Given the description of an element on the screen output the (x, y) to click on. 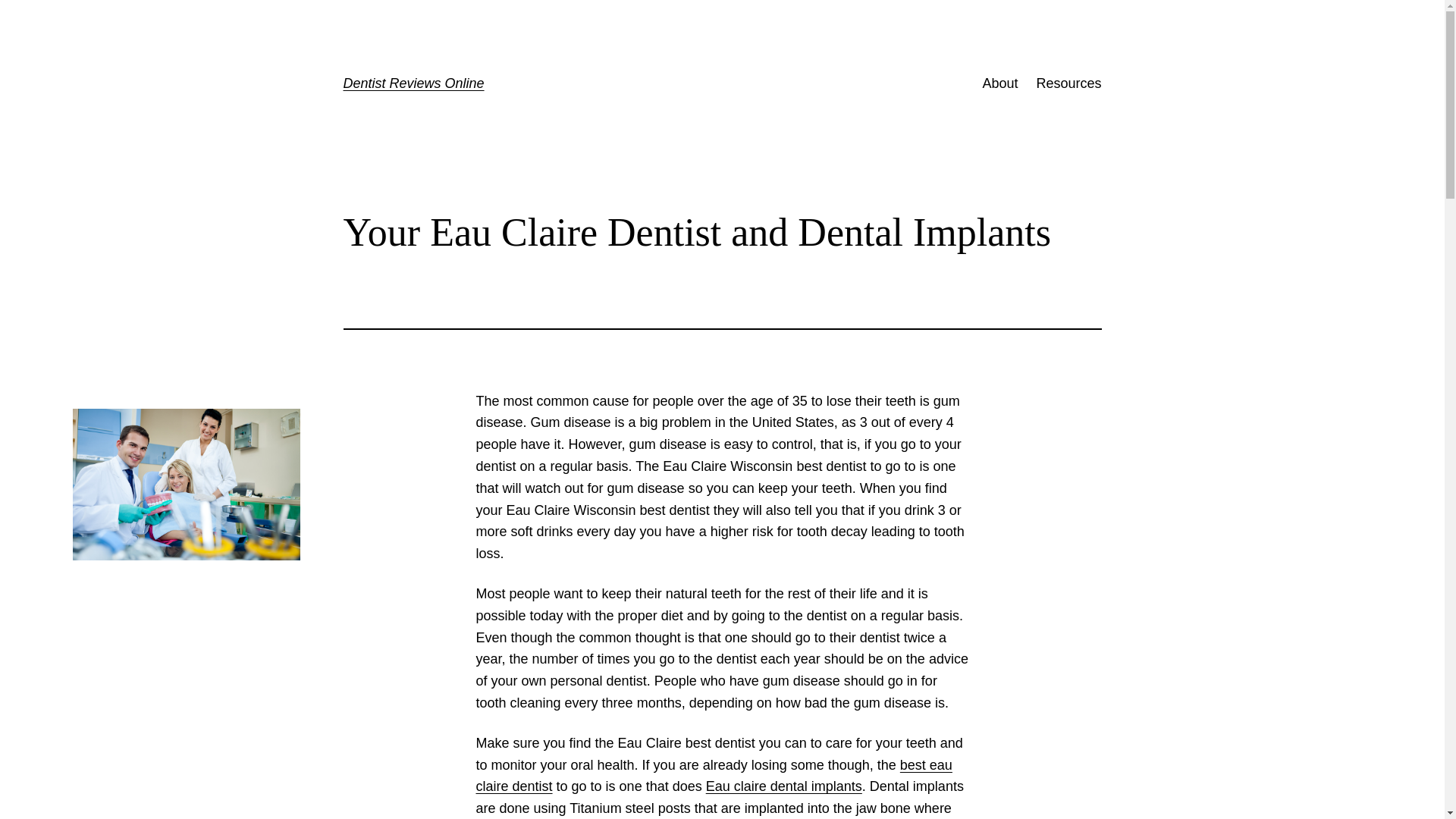
Dentist Reviews Online (412, 83)
Neat info on Eau claire all on four (783, 785)
Eau claire mini-dental implant (714, 775)
About (999, 83)
Resources (1067, 83)
best eau claire dentist (714, 775)
Eau claire dental implants (783, 785)
